Given the description of an element on the screen output the (x, y) to click on. 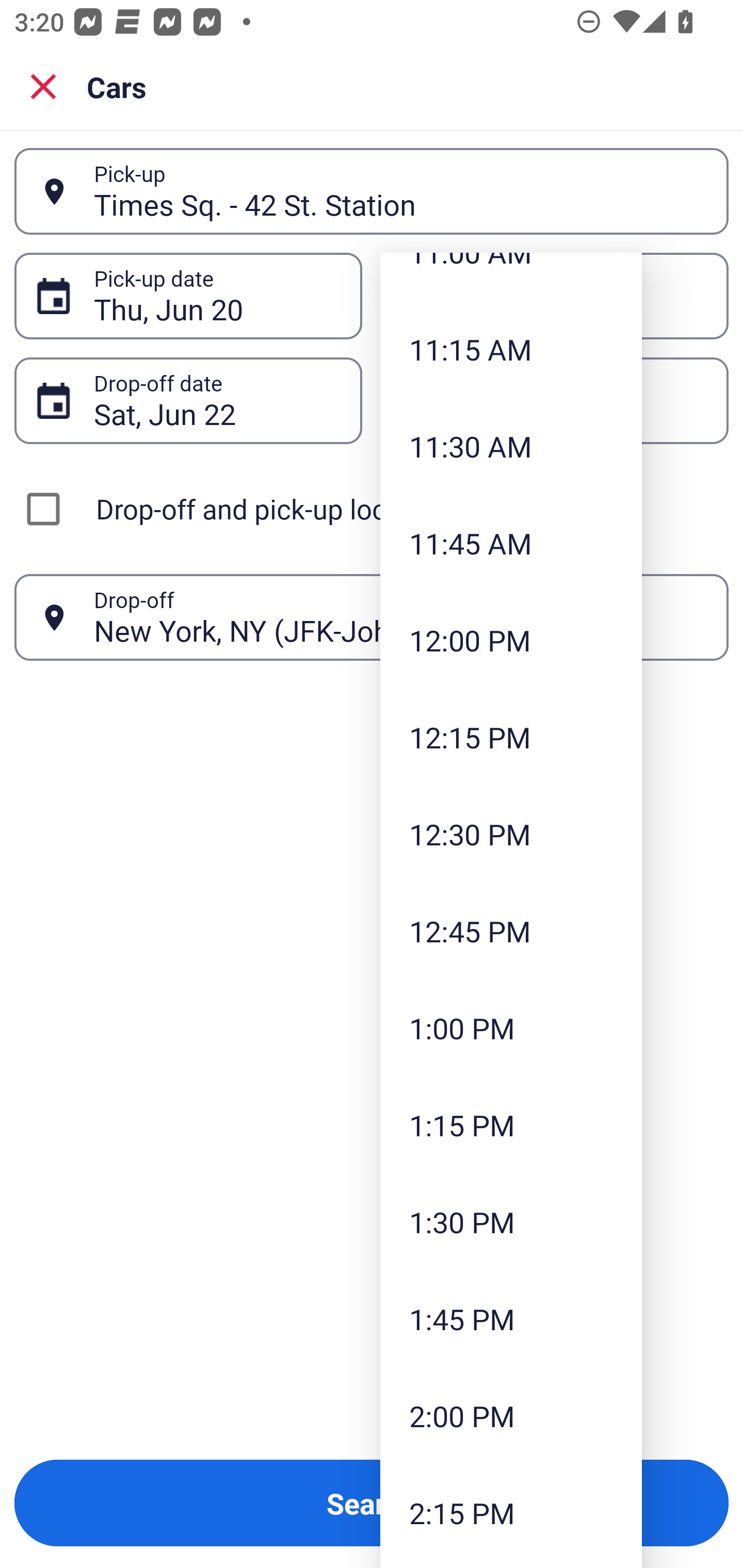
11:15 AM (510, 349)
11:30 AM (510, 445)
11:45 AM (510, 542)
12:00 PM (510, 639)
12:15 PM (510, 736)
12:30 PM (510, 833)
12:45 PM (510, 931)
1:00 PM (510, 1028)
1:15 PM (510, 1124)
1:30 PM (510, 1221)
1:45 PM (510, 1318)
2:00 PM (510, 1415)
2:15 PM (510, 1512)
